Given the description of an element on the screen output the (x, y) to click on. 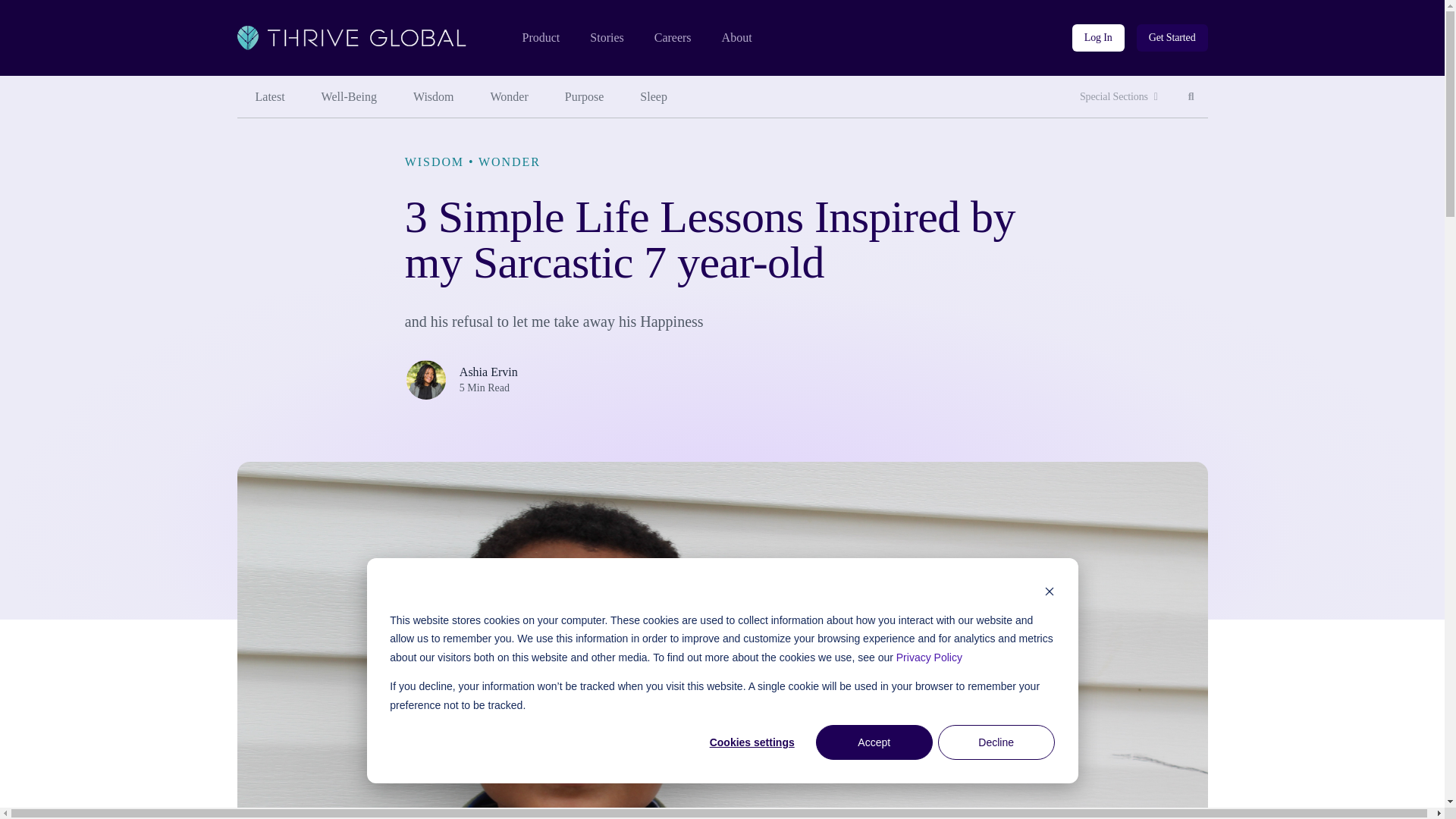
Careers (672, 37)
Log In (1191, 97)
Wonder (1097, 37)
Purpose (509, 96)
Product (585, 96)
Well-Being (540, 37)
About (348, 96)
Sleep (737, 37)
Special Sections (653, 96)
Latest (1118, 97)
Wisdom (268, 96)
Stories (432, 96)
Get Started (606, 37)
